Given the description of an element on the screen output the (x, y) to click on. 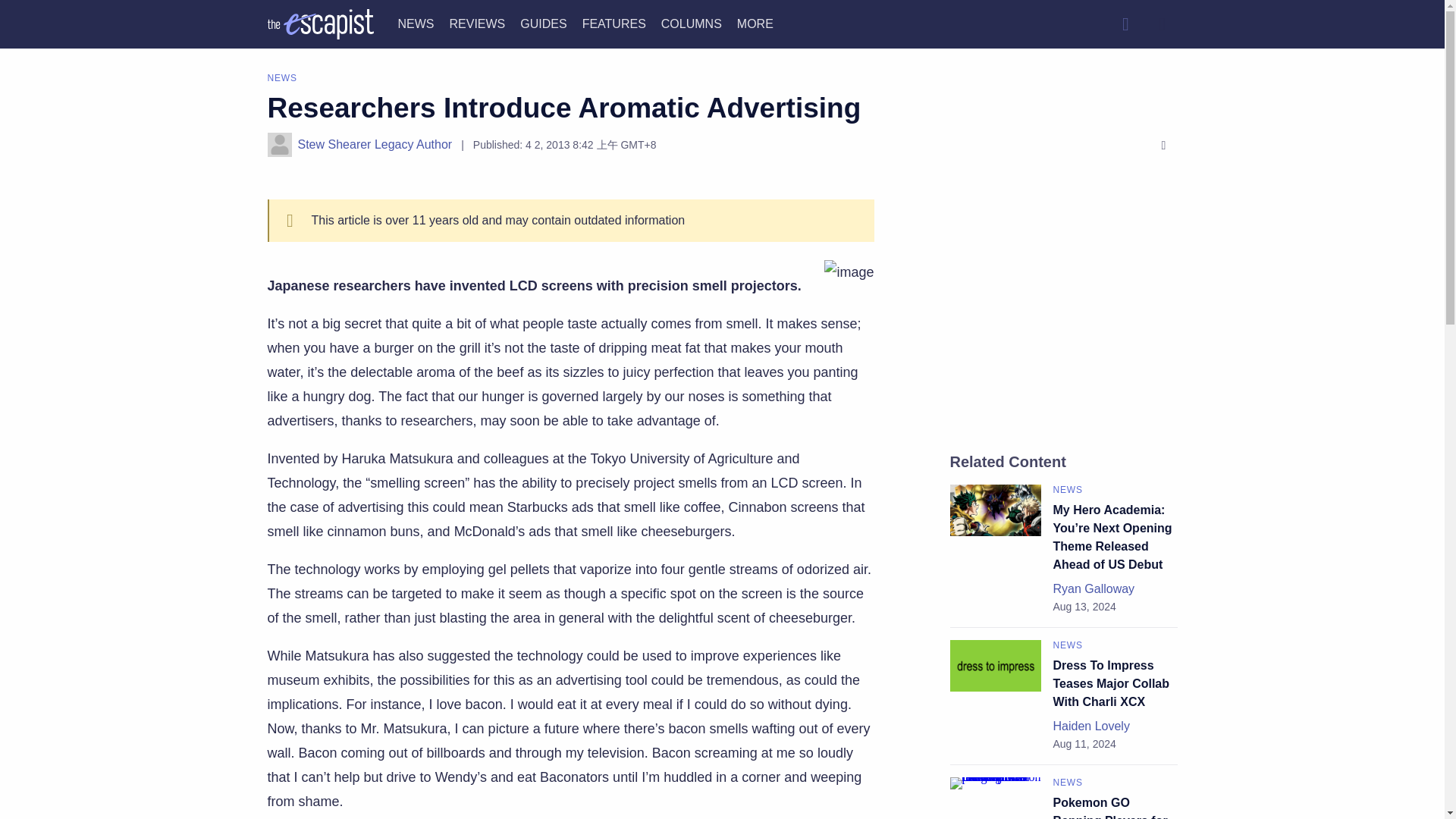
COLUMNS (691, 23)
NEWS (415, 23)
REVIEWS (476, 23)
FEATURES (614, 23)
Search (1124, 24)
GUIDES (542, 23)
Dark Mode (1161, 24)
